Given the description of an element on the screen output the (x, y) to click on. 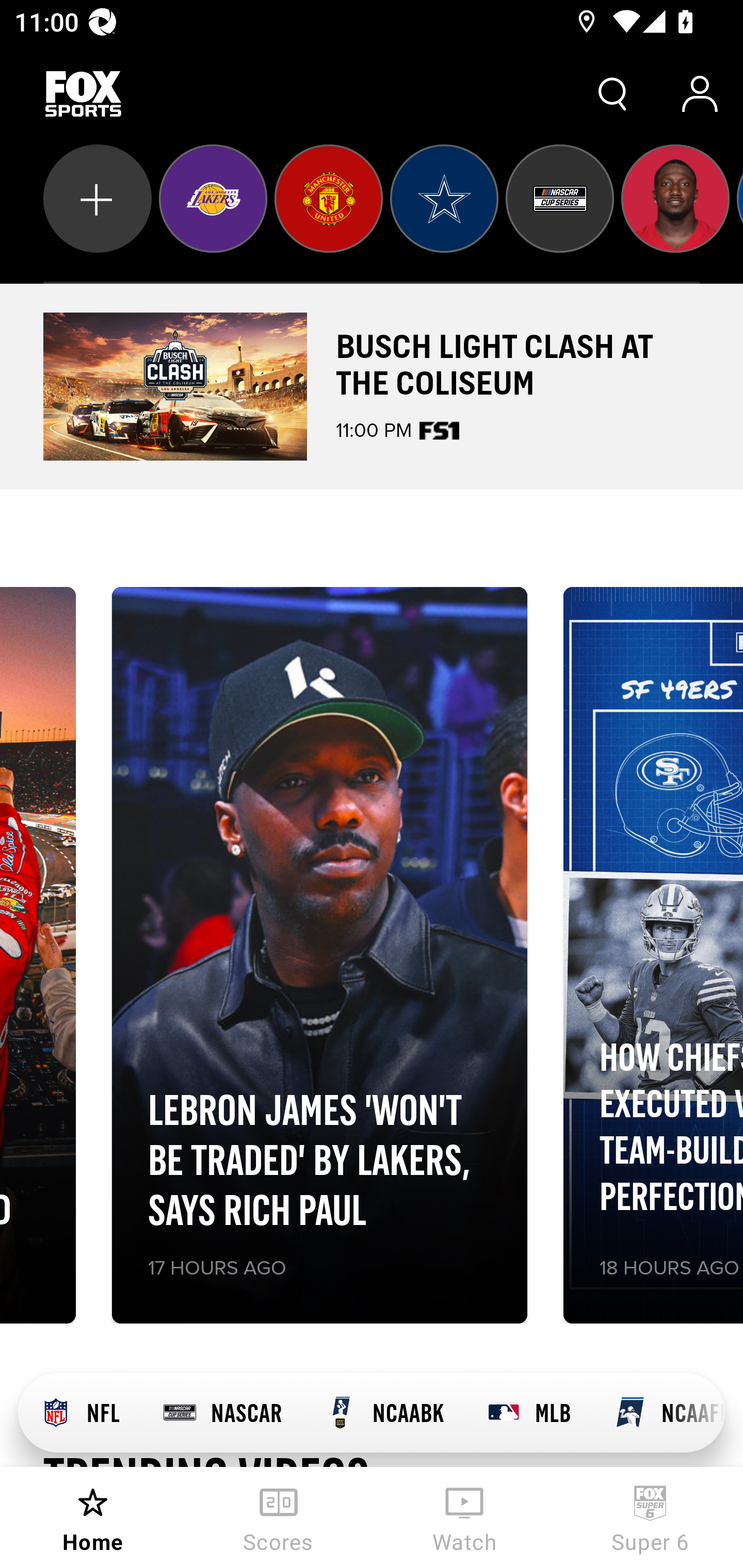
Search (612, 93)
Account (699, 93)
BUSCH LIGHT CLASH AT THE COLISEUM 11:00 PM (371, 386)
NFL (79, 1412)
NASCAR (222, 1412)
NCAABK (384, 1412)
MLB (528, 1412)
NCAAFB (658, 1412)
Scores (278, 1517)
Watch (464, 1517)
Super 6 (650, 1517)
